Given the description of an element on the screen output the (x, y) to click on. 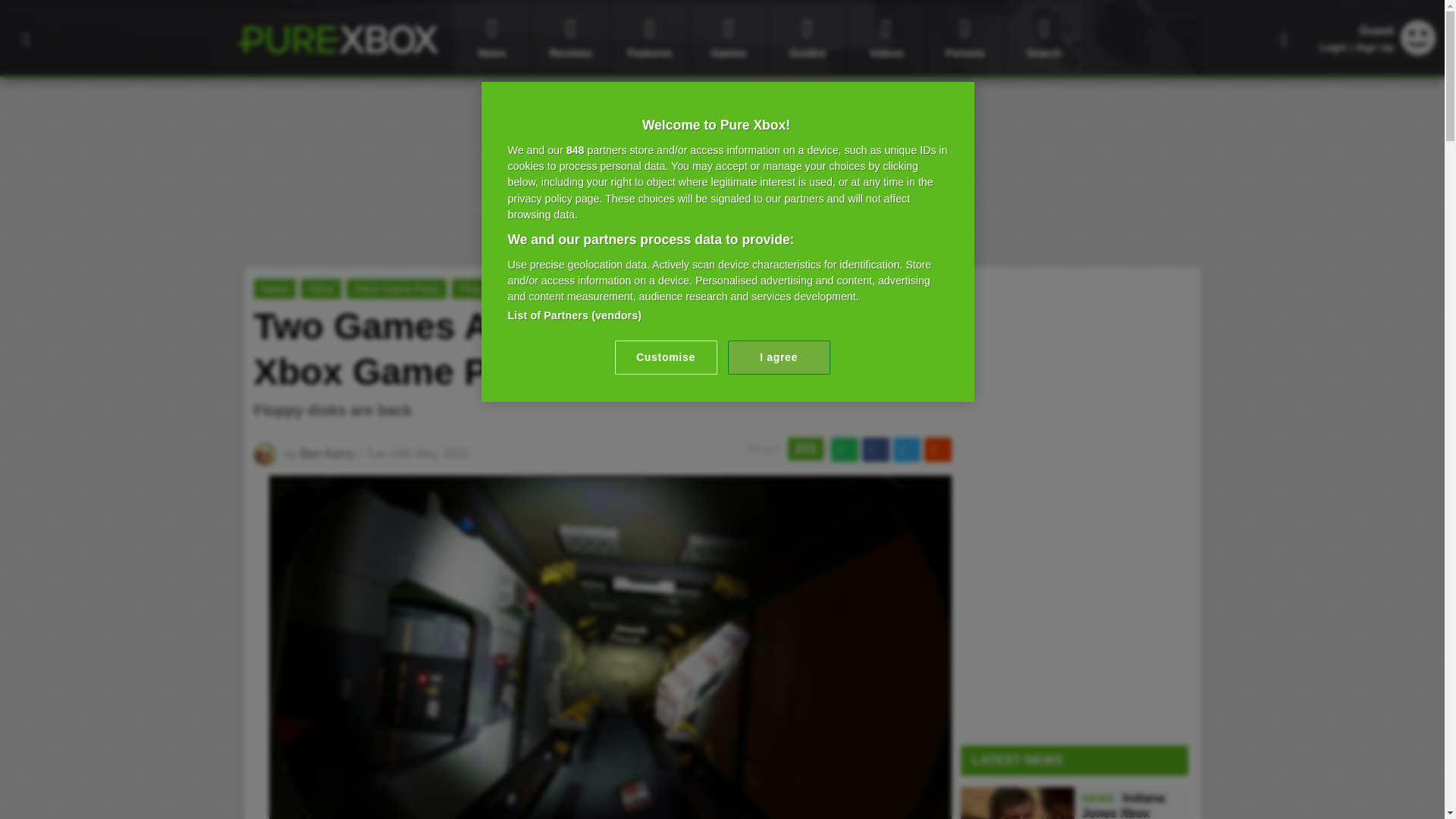
Pure Xbox (336, 39)
Pure Xbox (336, 39)
Features (649, 37)
Guest (1417, 51)
Login (1332, 47)
Search (1043, 37)
Sign Up (1374, 47)
Videos (886, 37)
Guides (807, 37)
Games (728, 37)
